Given the description of an element on the screen output the (x, y) to click on. 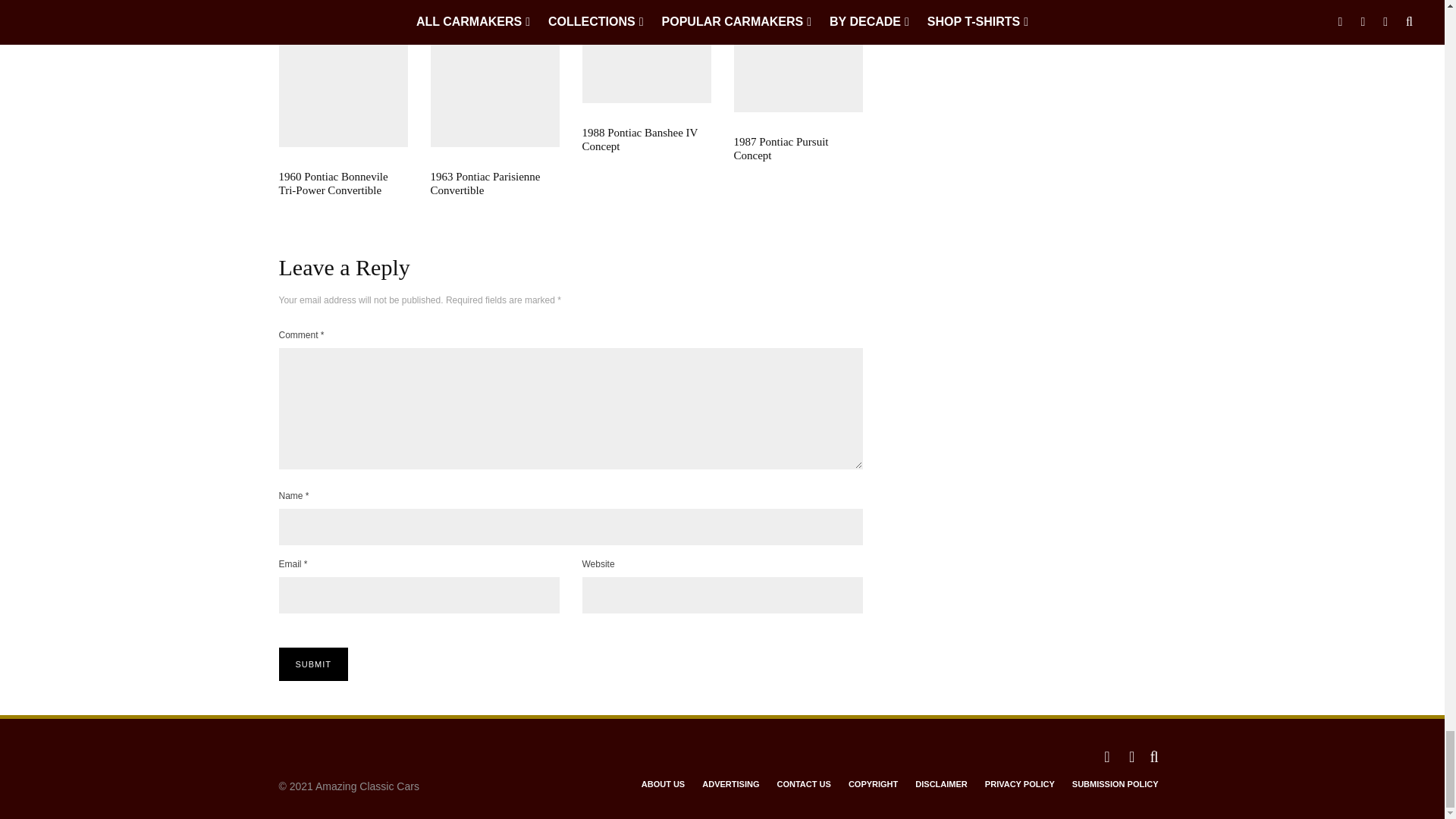
Submit (314, 663)
